Given the description of an element on the screen output the (x, y) to click on. 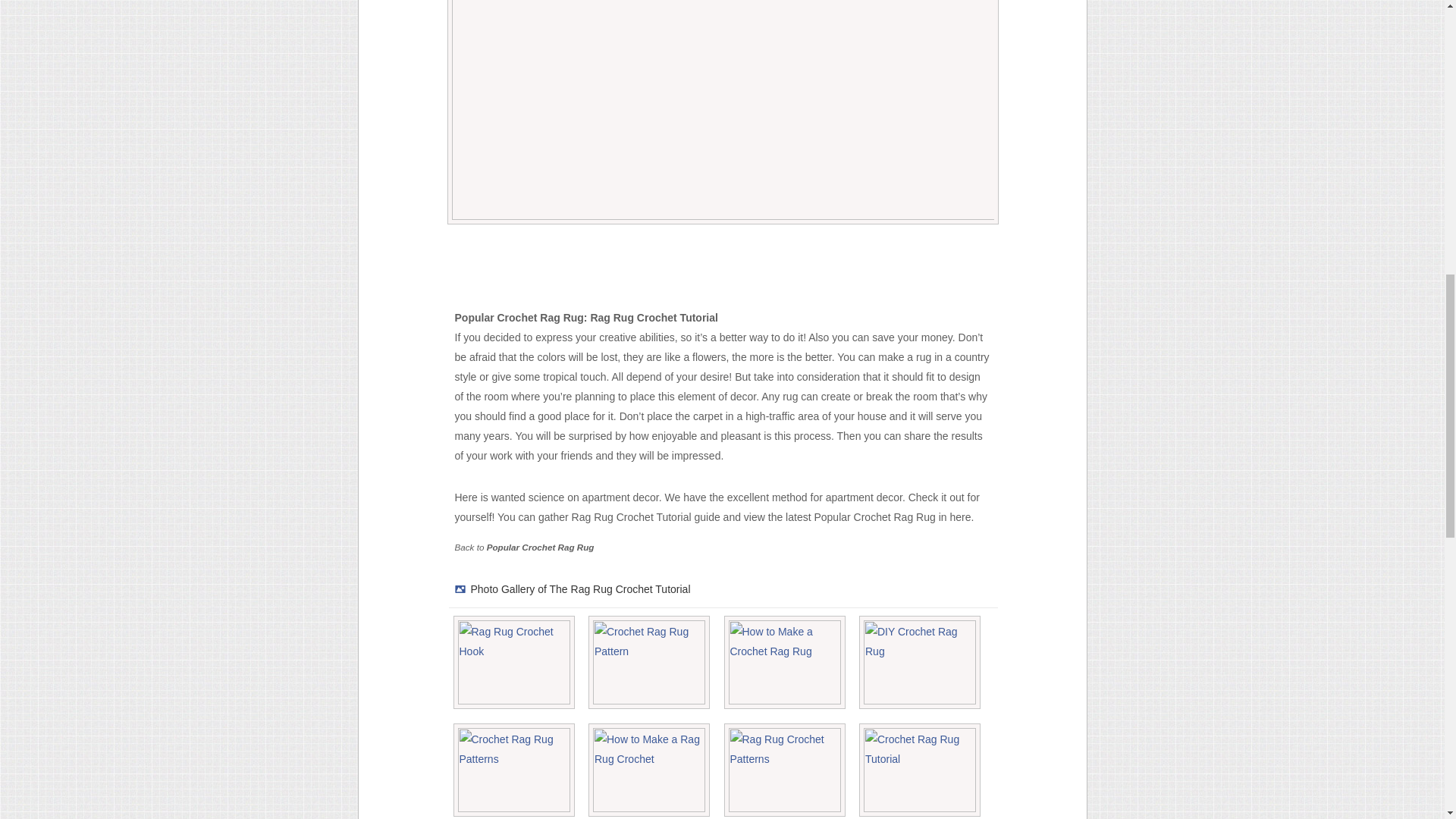
here (960, 517)
Return to Popular Crochet Rag Rug (540, 547)
Popular Crochet Rag Rug (540, 547)
